Given the description of an element on the screen output the (x, y) to click on. 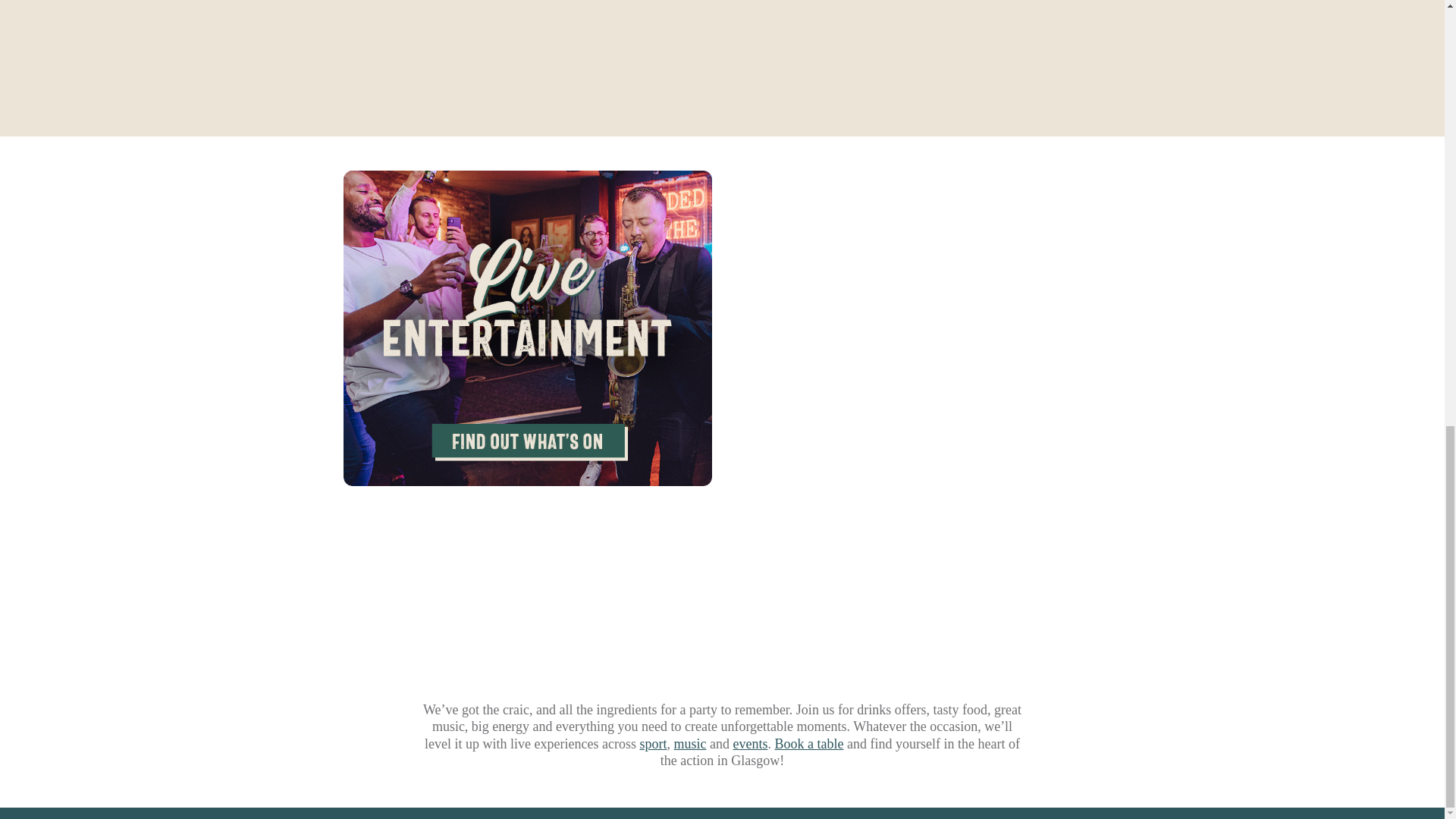
events (749, 743)
Book a table (808, 743)
sport (653, 743)
music (689, 743)
